Given the description of an element on the screen output the (x, y) to click on. 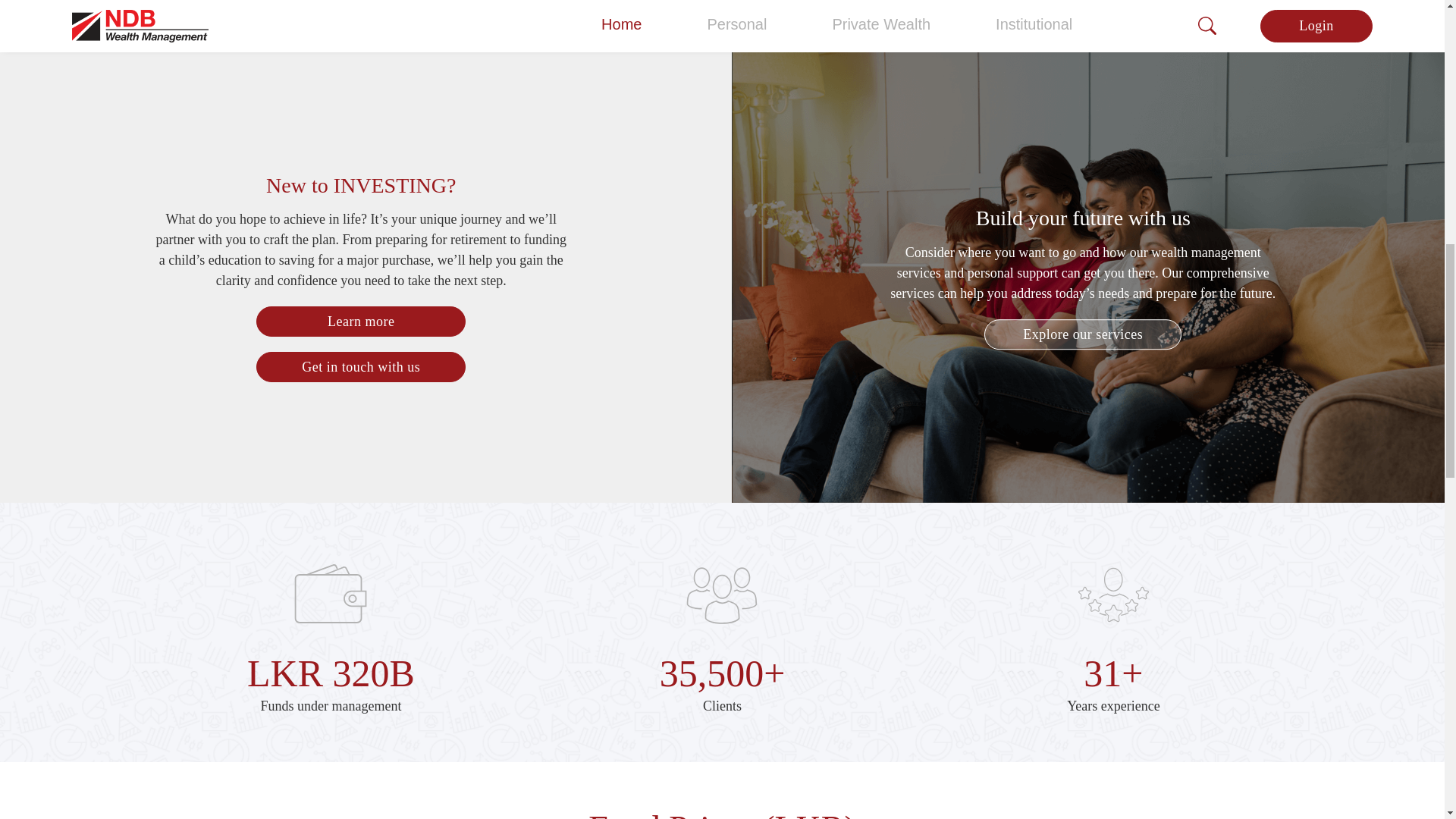
Explore our services (1082, 334)
Learn more (360, 321)
Get in touch with us (360, 367)
